Given the description of an element on the screen output the (x, y) to click on. 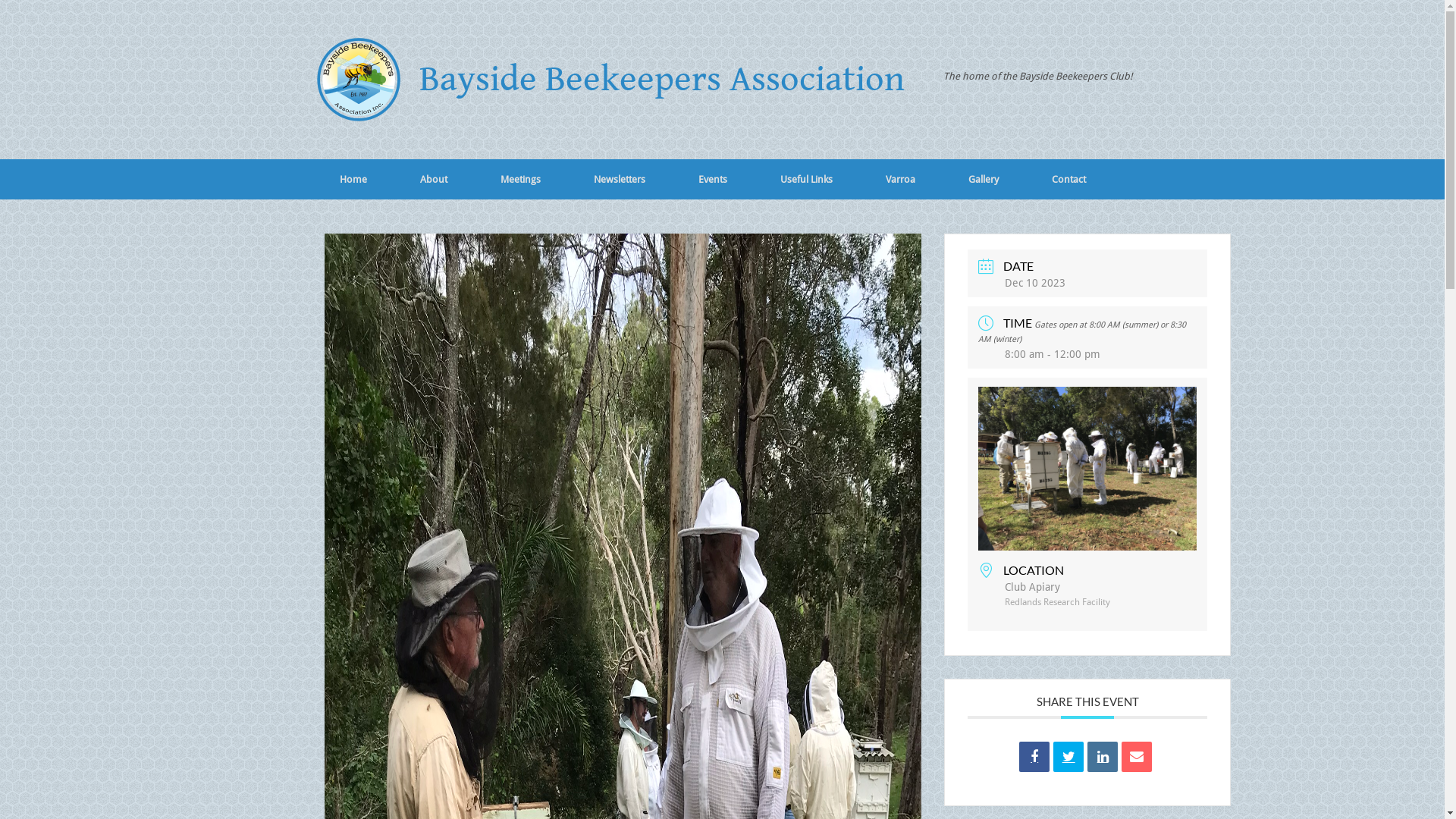
Tweet Element type: hover (1068, 756)
Bayside Beekeepers Association Element type: text (607, 79)
Email Element type: hover (1136, 756)
Varroa Element type: text (899, 179)
Contact Element type: text (1068, 179)
About Element type: text (432, 179)
Gallery Element type: text (983, 179)
Home Element type: text (352, 179)
Useful Links Element type: text (806, 179)
Newsletters Element type: text (619, 179)
Linkedin Element type: hover (1102, 756)
Events Element type: text (712, 179)
Meetings Element type: text (519, 179)
Share on Facebook Element type: hover (1034, 756)
